Given the description of an element on the screen output the (x, y) to click on. 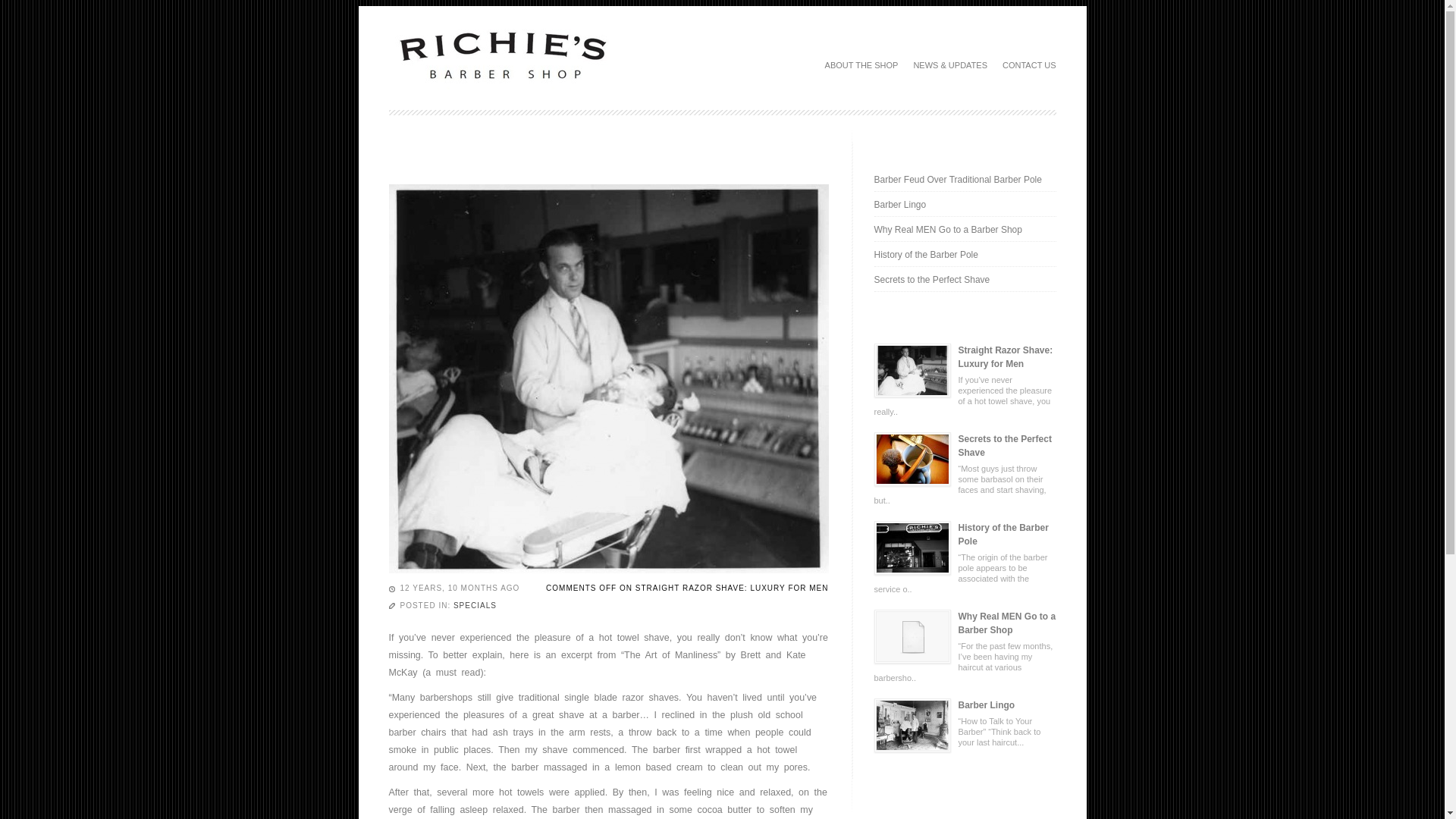
Straight Razor Shave: Luxury for Men (964, 357)
History of the Barber Pole (911, 547)
Why Real MEN Go to a Barber Shop (911, 636)
Straight Razor Shave: Luxury for Men (911, 370)
ABOUT THE SHOP (860, 63)
Barber Lingo (964, 704)
Barber Lingo (964, 204)
Secrets to the Perfect Shave (911, 459)
History of the Barber Pole (964, 533)
Secrets to the Perfect Shave (964, 445)
History of the Barber Pole (964, 533)
Secrets to the Perfect Shave (964, 445)
Why Real MEN Go to a Barber Shop (964, 623)
Secrets to the Perfect Shave (964, 278)
History of the Barber Pole (964, 253)
